Given the description of an element on the screen output the (x, y) to click on. 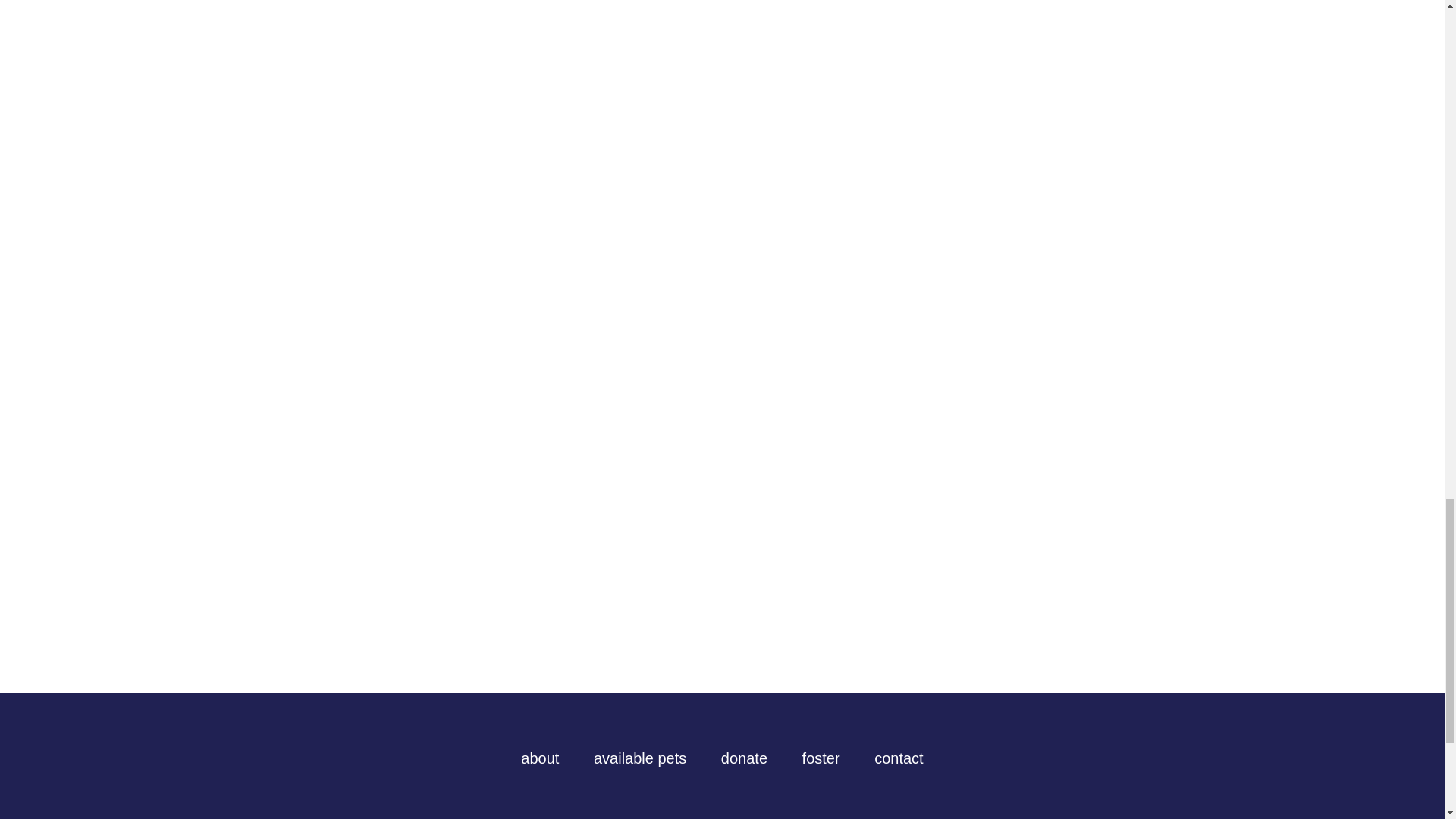
contact (899, 758)
donate (743, 758)
about (540, 758)
available pets (639, 758)
foster (821, 758)
